Given the description of an element on the screen output the (x, y) to click on. 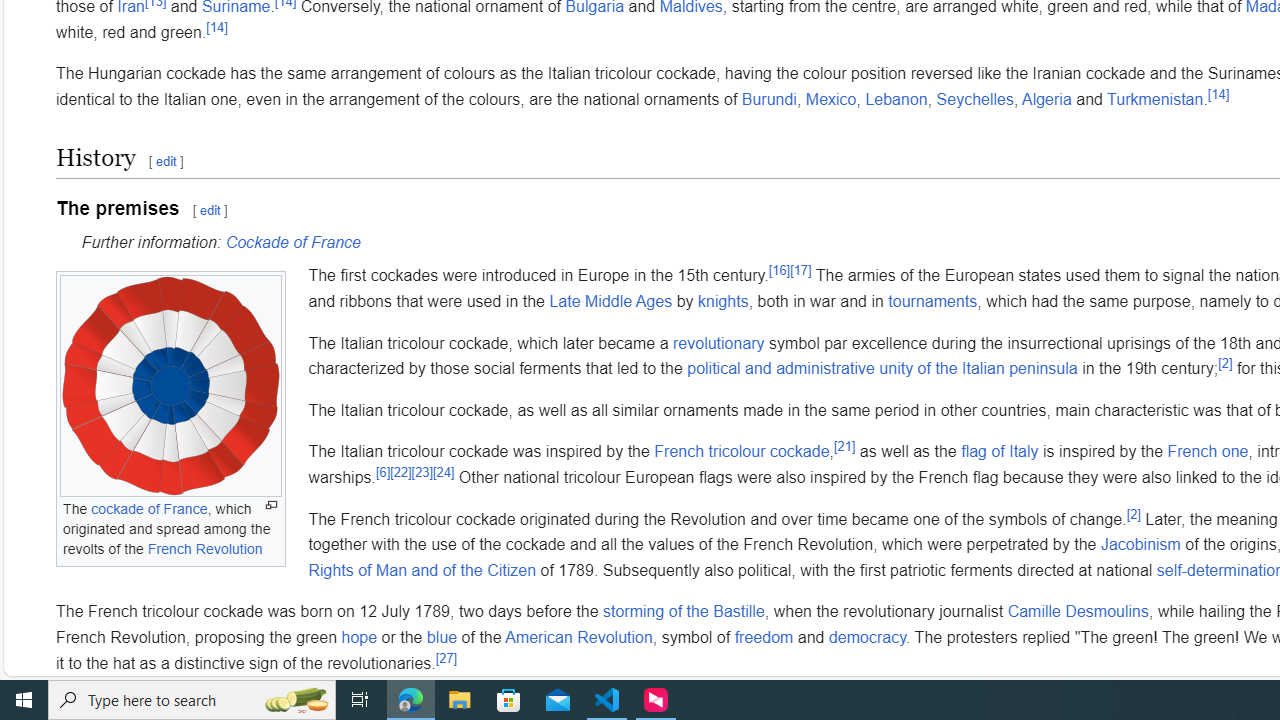
edit (209, 210)
Jacobinism (1140, 544)
French tricolour cockade (741, 451)
French Revolution (204, 548)
[6] (382, 471)
Camille Desmoulins (1078, 611)
[2] (1133, 514)
revolutionary (719, 343)
Mexico (831, 99)
[24] (443, 471)
Seychelles (974, 99)
Burundi (769, 99)
flag of Italy (1000, 451)
Algeria (1046, 99)
[27] (446, 658)
